Given the description of an element on the screen output the (x, y) to click on. 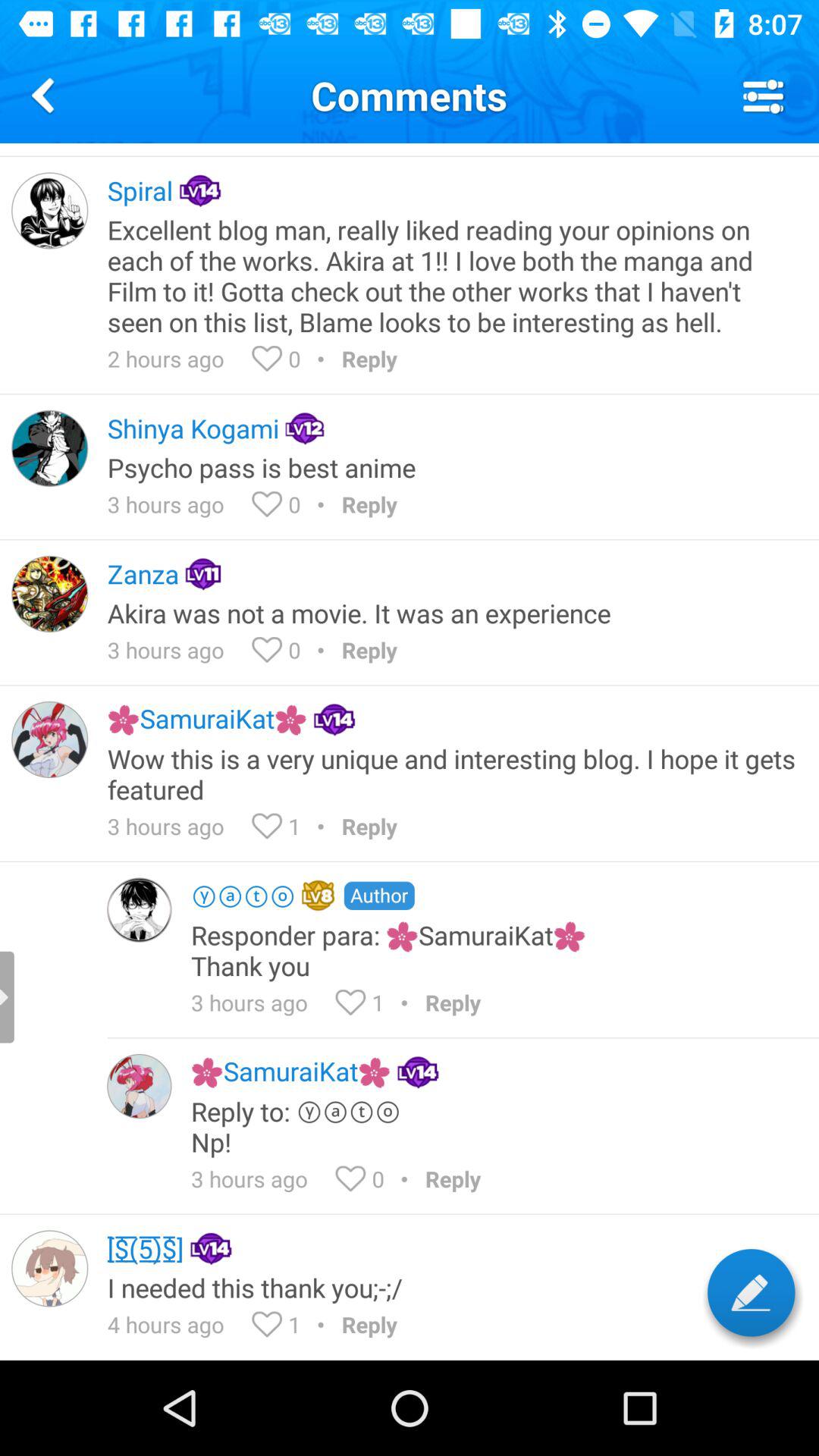
turn on the icon next to comments icon (45, 95)
